Given the description of an element on the screen output the (x, y) to click on. 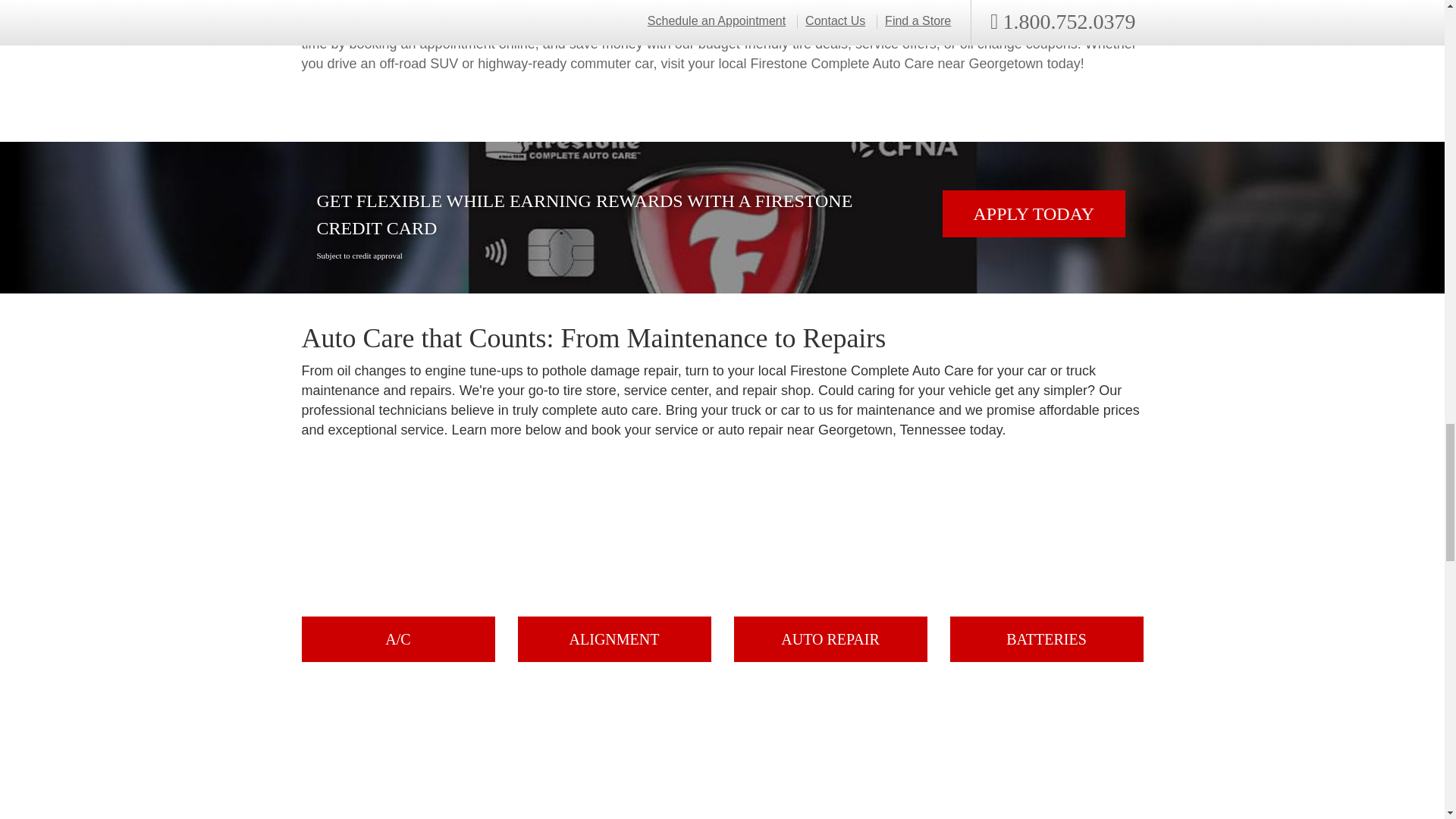
APPLY TODAY (1033, 213)
INSPECTION (613, 751)
ALIGNMENT (613, 563)
AUTO REPAIR (830, 563)
BATTERIES (1045, 563)
BRAKES (398, 751)
OIL CHANGE (830, 751)
